Given the description of an element on the screen output the (x, y) to click on. 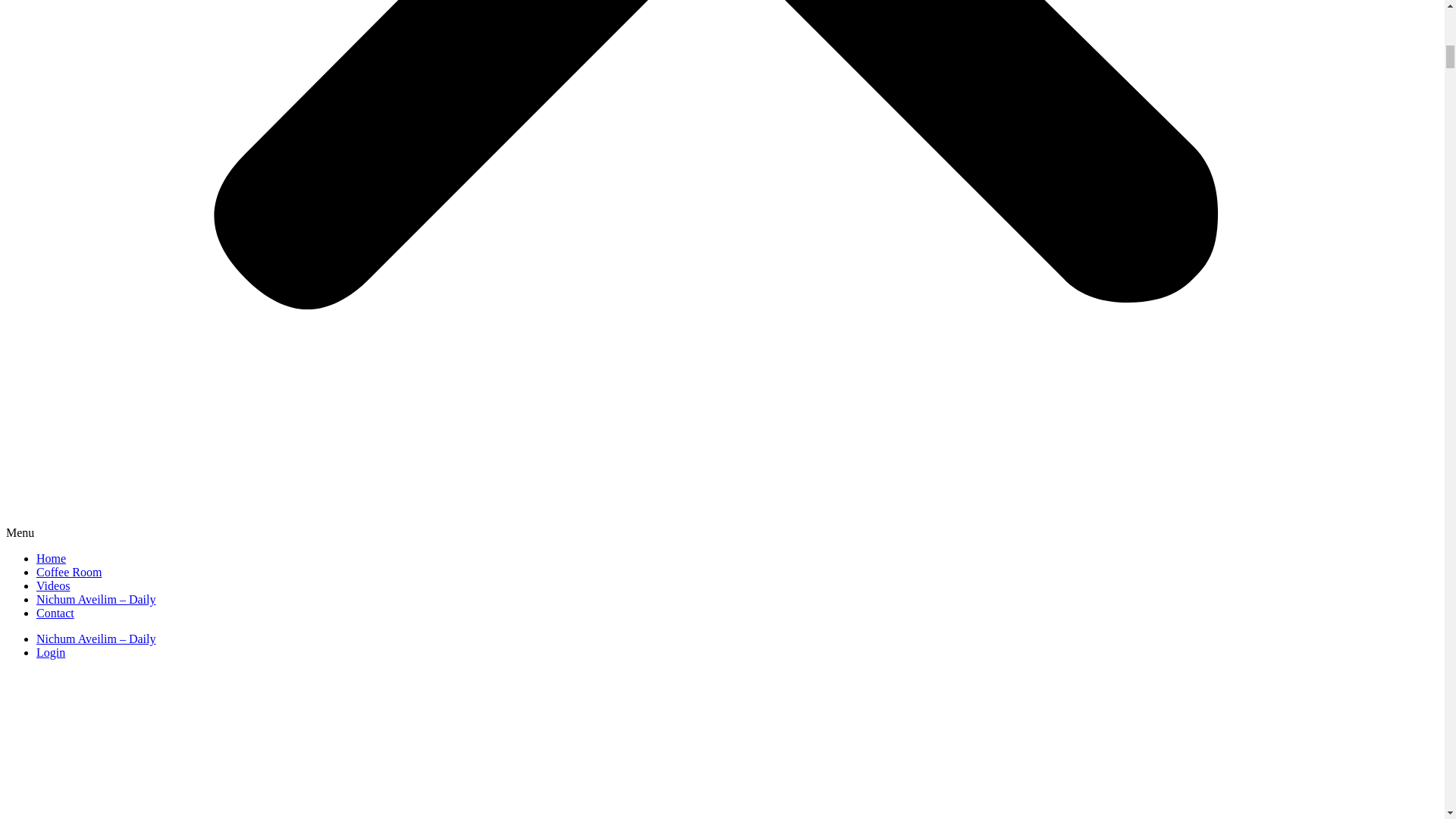
Contact (55, 612)
Coffee Room (68, 571)
Videos (52, 585)
Home (50, 558)
Login (50, 652)
